Given the description of an element on the screen output the (x, y) to click on. 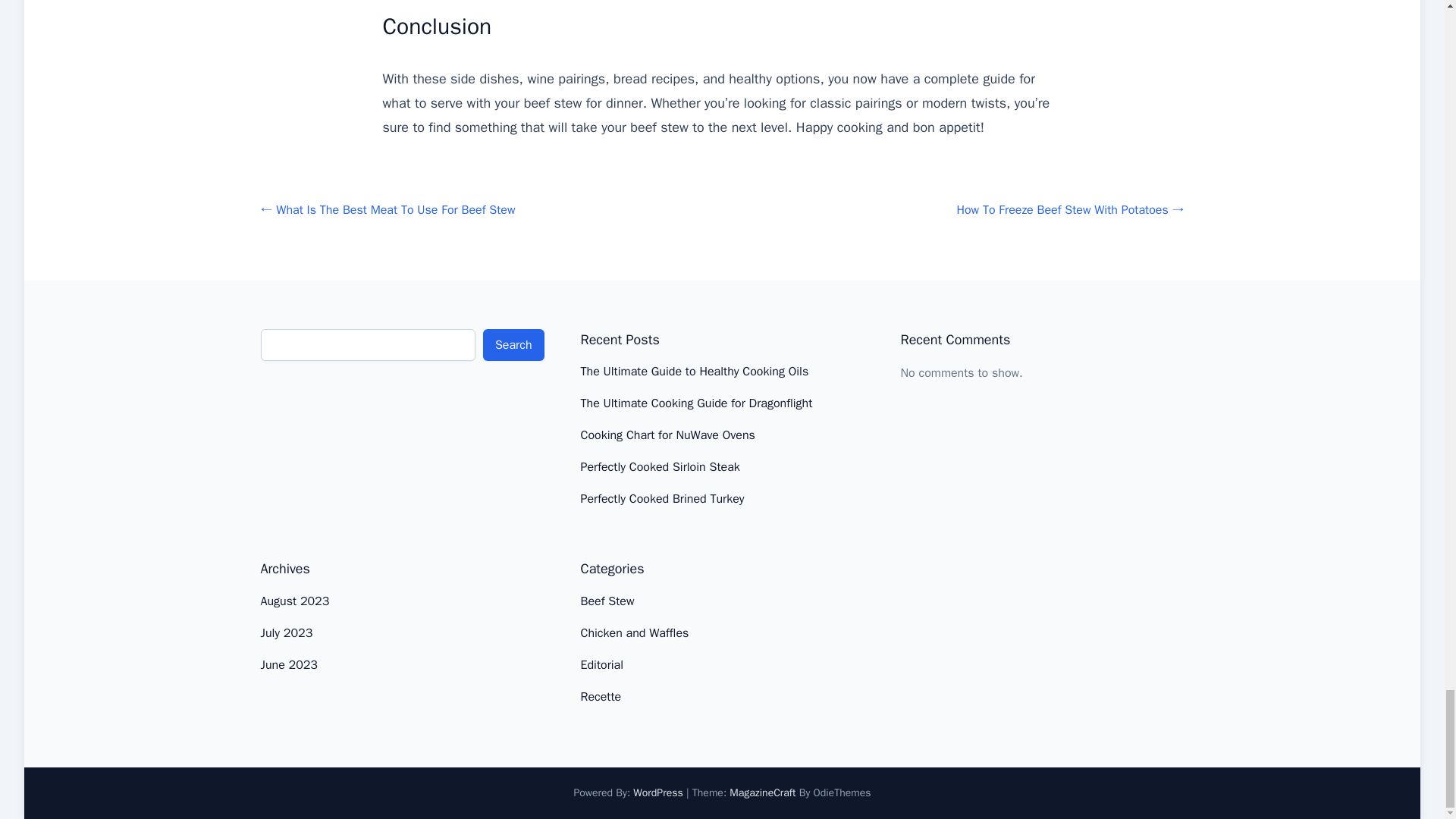
Recette (600, 696)
Beef Stew (607, 601)
The Ultimate Guide to Healthy Cooking Oils (694, 371)
WordPress (657, 792)
Perfectly Cooked Brined Turkey (662, 498)
MagazineCraft (761, 792)
Perfectly Cooked Sirloin Steak (659, 467)
Editorial (602, 664)
June 2023 (288, 664)
Cooking Chart for NuWave Ovens (667, 435)
